Given the description of an element on the screen output the (x, y) to click on. 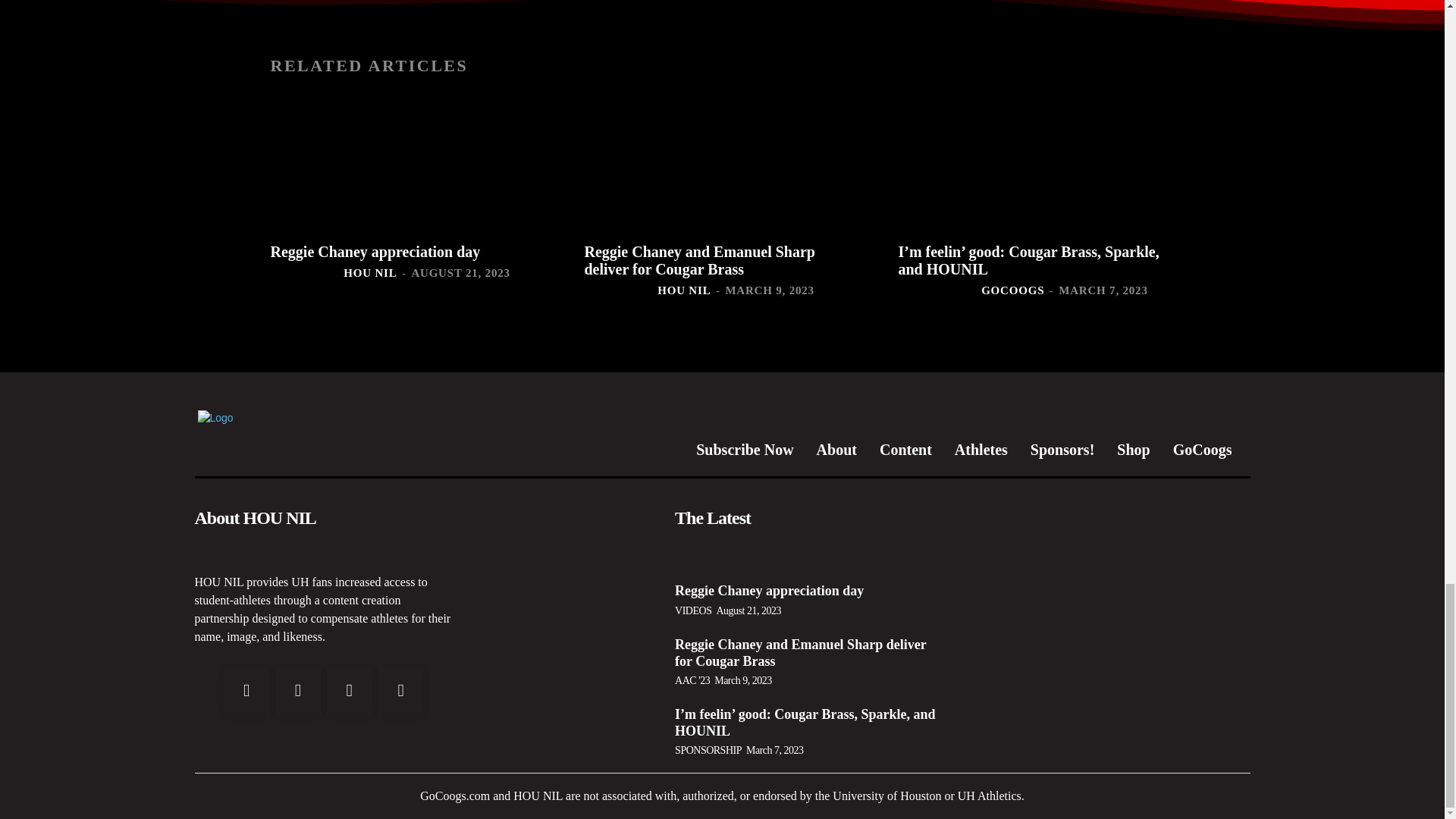
Reggie Chaney and Emanuel Sharp deliver for Cougar Brass (721, 164)
Reggie Chaney appreciation day (407, 164)
Reggie Chaney appreciation day (374, 251)
Reggie Chaney and Emanuel Sharp deliver for Cougar Brass (699, 260)
